Given the description of an element on the screen output the (x, y) to click on. 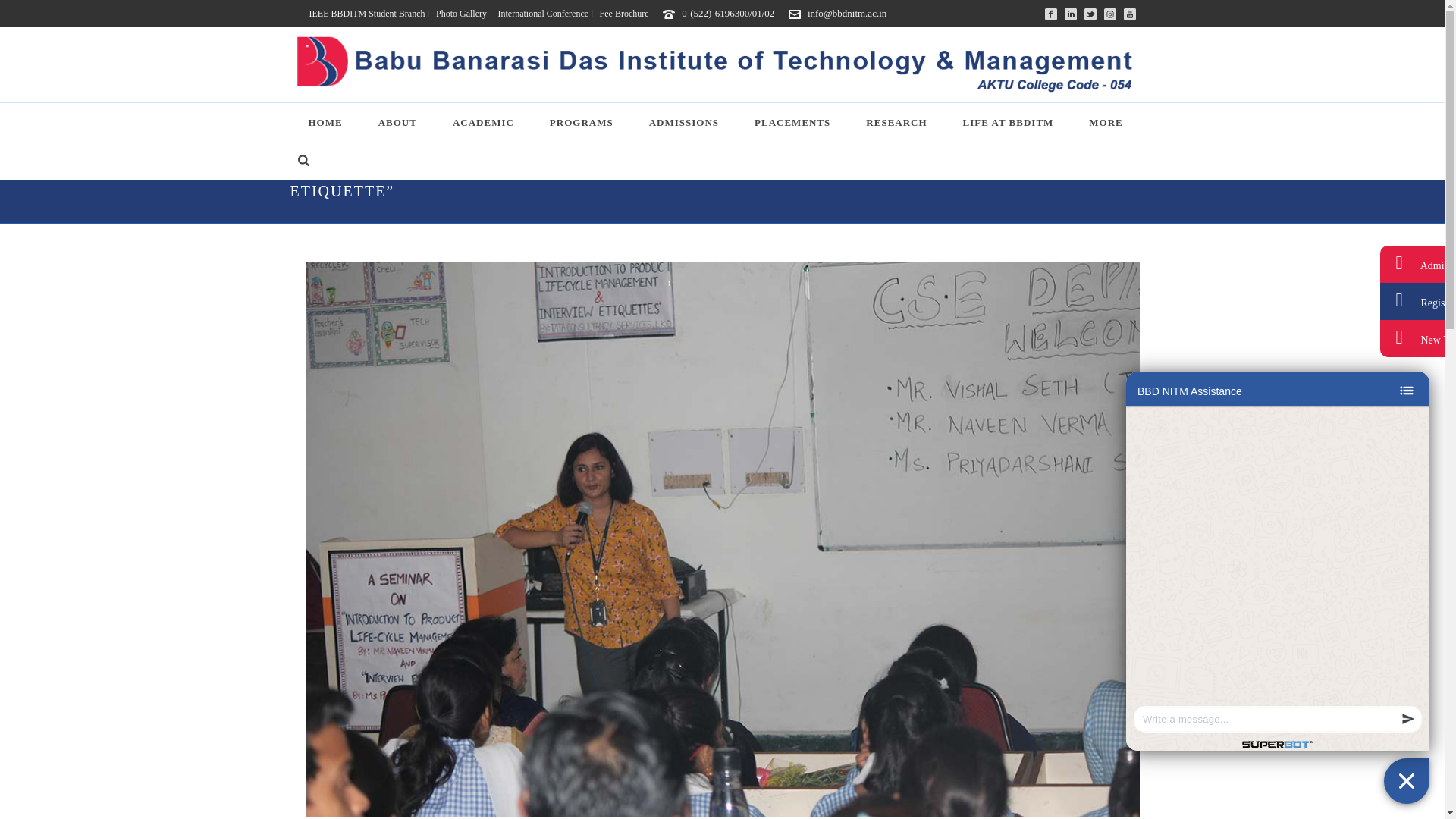
PLACEMENTS (791, 122)
HOME (325, 122)
MORE (1105, 122)
LIFE AT BBDITM (1007, 122)
Fee Brochure (623, 13)
ACADEMIC (483, 122)
ABOUT (397, 122)
HOME (325, 122)
RESEARCH (895, 122)
ABOUT (397, 122)
Photo Gallery (462, 13)
ADMISSIONS (683, 122)
BBDITM (721, 64)
ACADEMIC (483, 122)
PROGRAMS (581, 122)
